Given the description of an element on the screen output the (x, y) to click on. 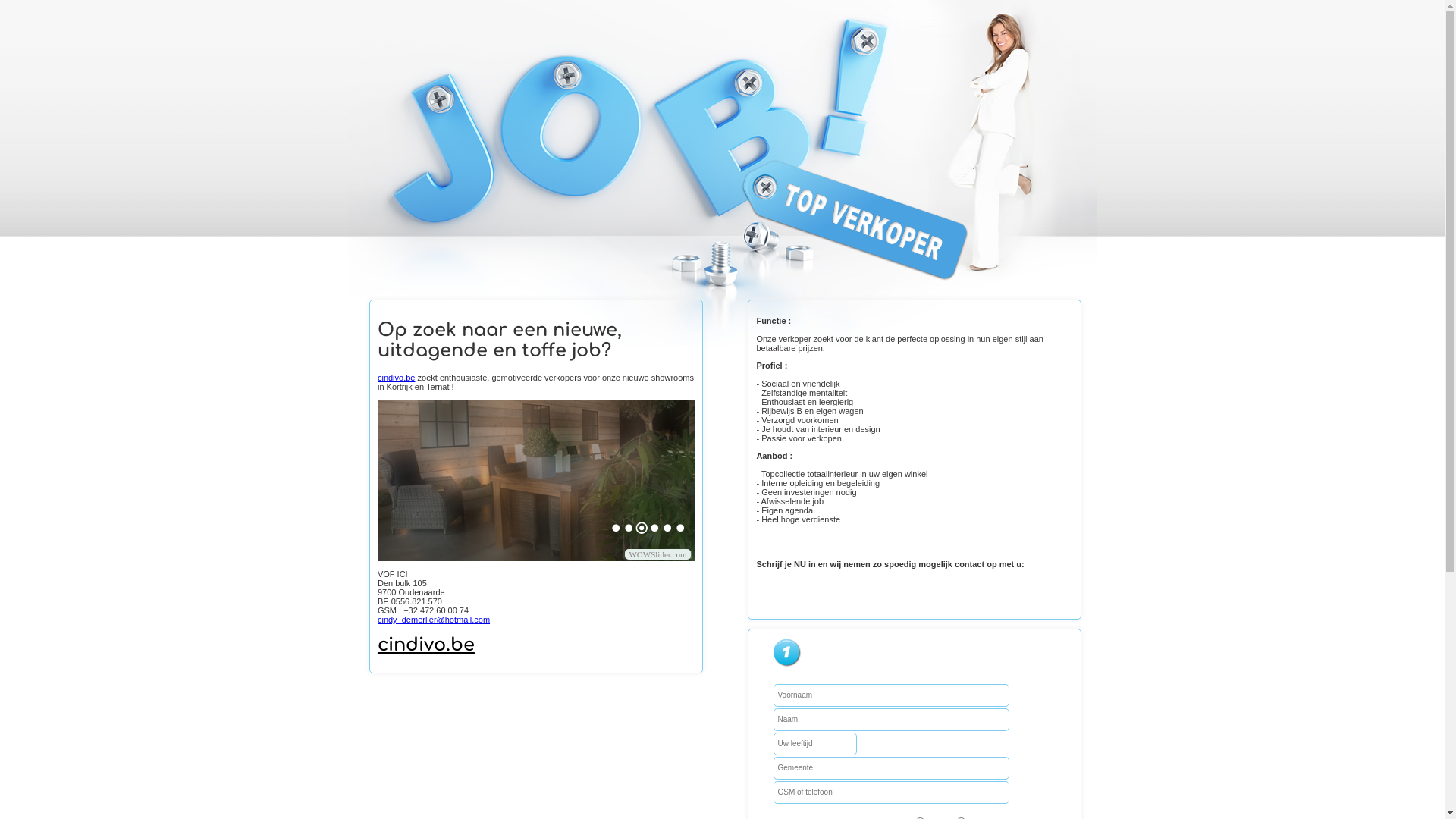
cindivo.be zoekt topverkopers Element type: hover (218, 480)
cindivo.be Element type: text (425, 644)
WOWSlider.com Element type: text (657, 554)
cindy_demerlier@hotmail.com Element type: text (433, 619)
4 Element type: text (654, 527)
cindivo.be zoekt topverkopers Element type: hover (535, 480)
6 Element type: text (680, 527)
1 Element type: text (615, 527)
2 Element type: text (628, 527)
cindivo.be Element type: text (396, 377)
5 Element type: text (667, 527)
3 Element type: text (641, 527)
